Given the description of an element on the screen output the (x, y) to click on. 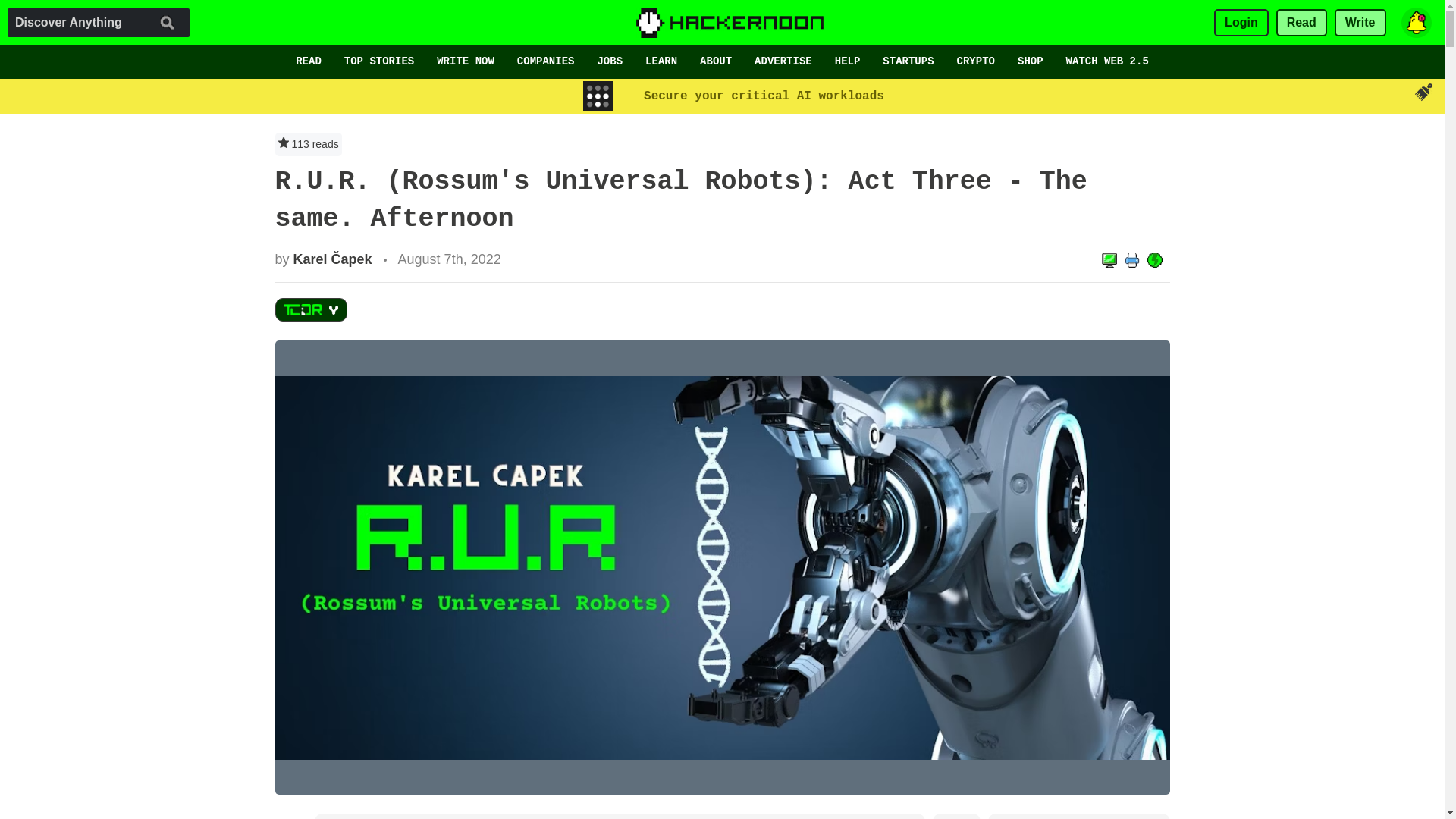
Login (1241, 22)
Write (1360, 22)
Read (1301, 22)
